Given the description of an element on the screen output the (x, y) to click on. 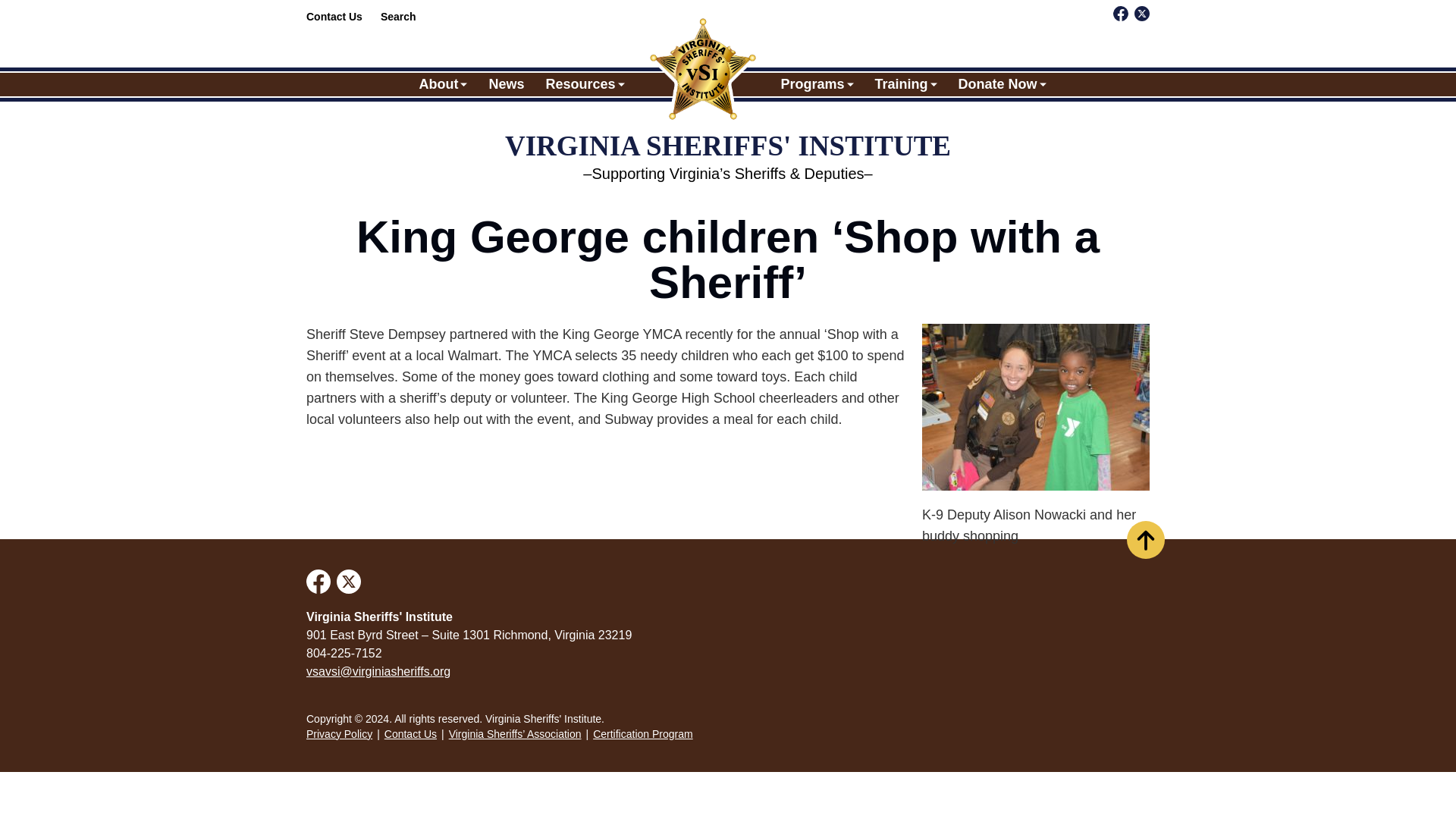
Contact Us (333, 16)
